Given the description of an element on the screen output the (x, y) to click on. 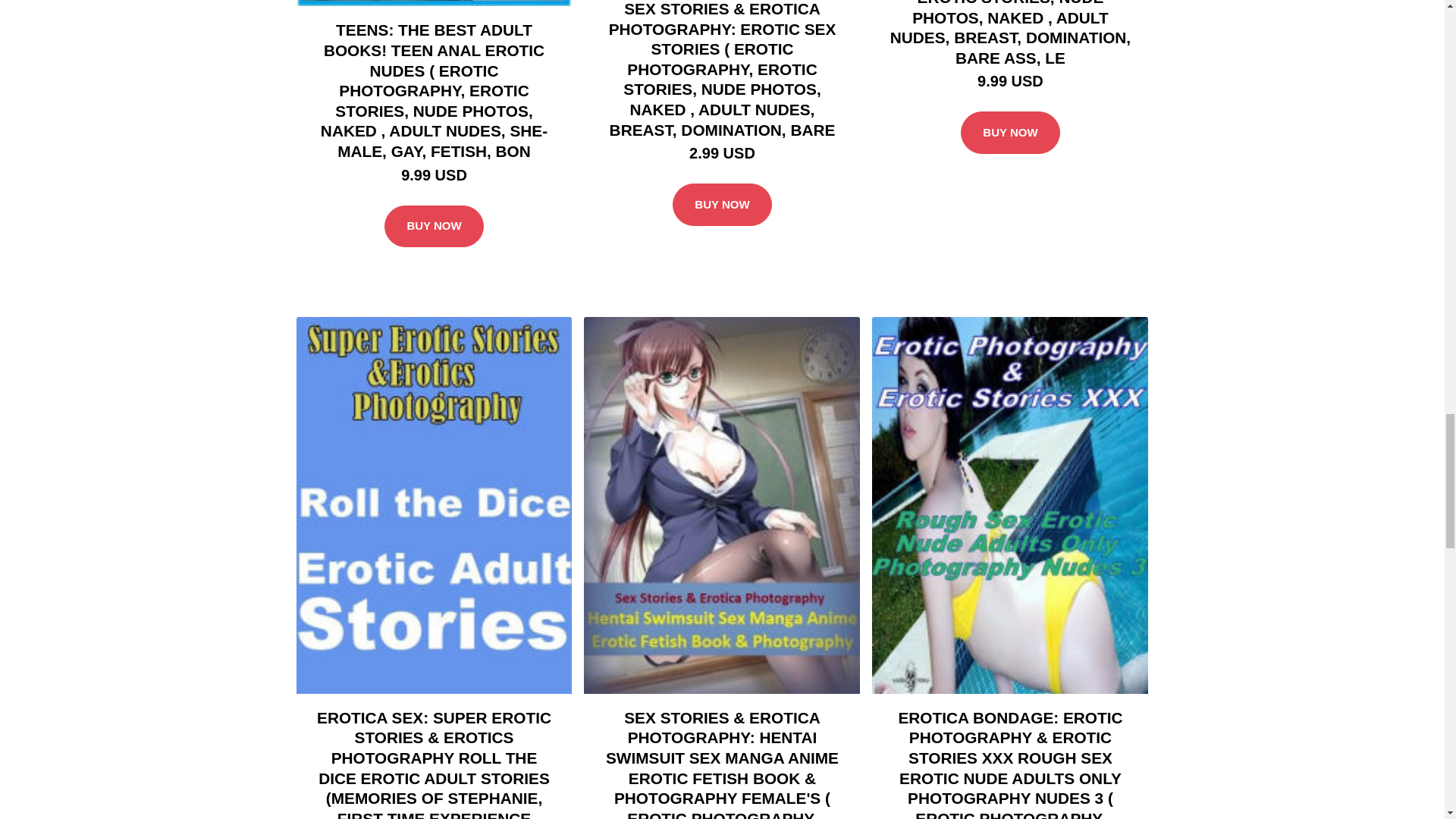
BUY NOW (1009, 132)
BUY NOW (721, 204)
BUY NOW (433, 226)
